Given the description of an element on the screen output the (x, y) to click on. 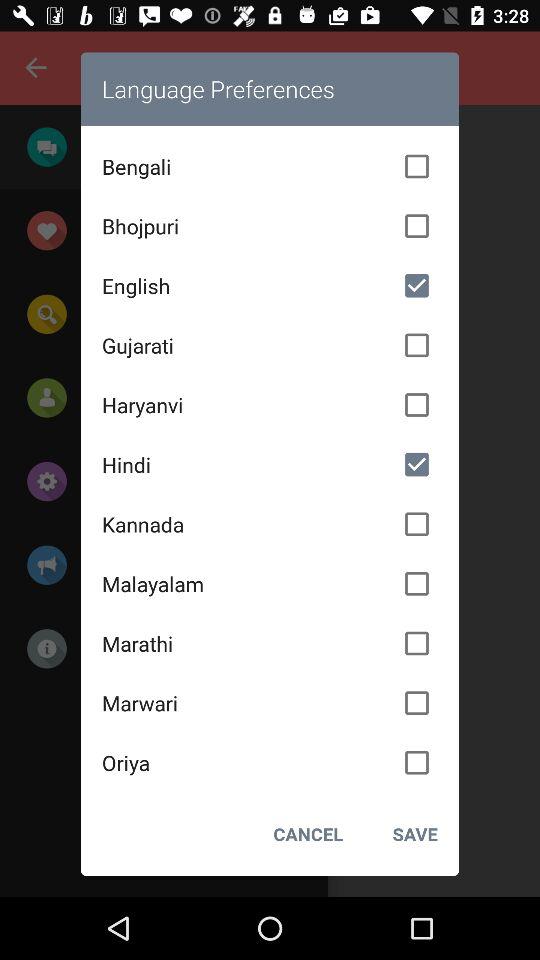
tap the gujarati icon (270, 345)
